Given the description of an element on the screen output the (x, y) to click on. 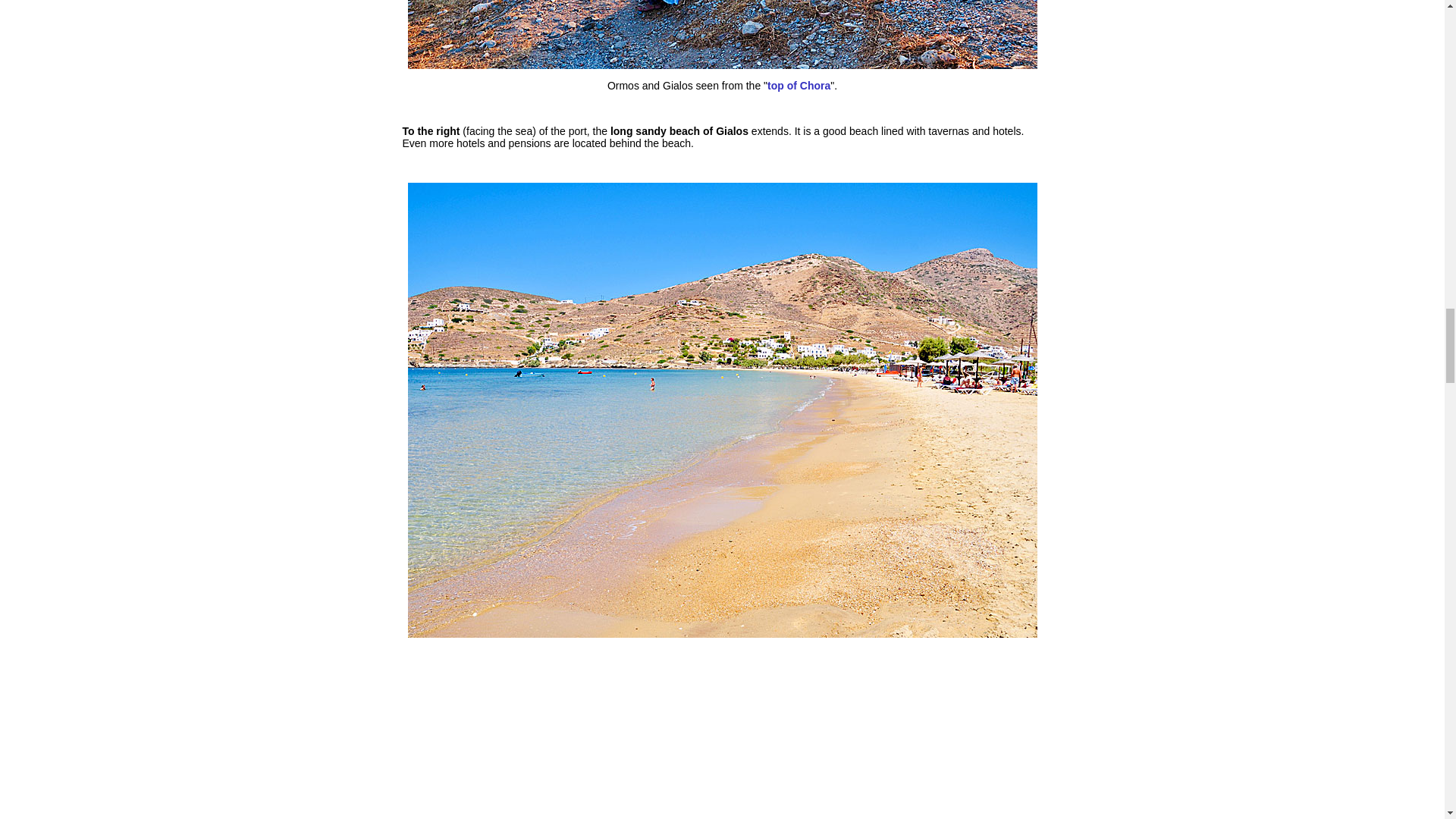
top of Chora (798, 85)
